Given the description of an element on the screen output the (x, y) to click on. 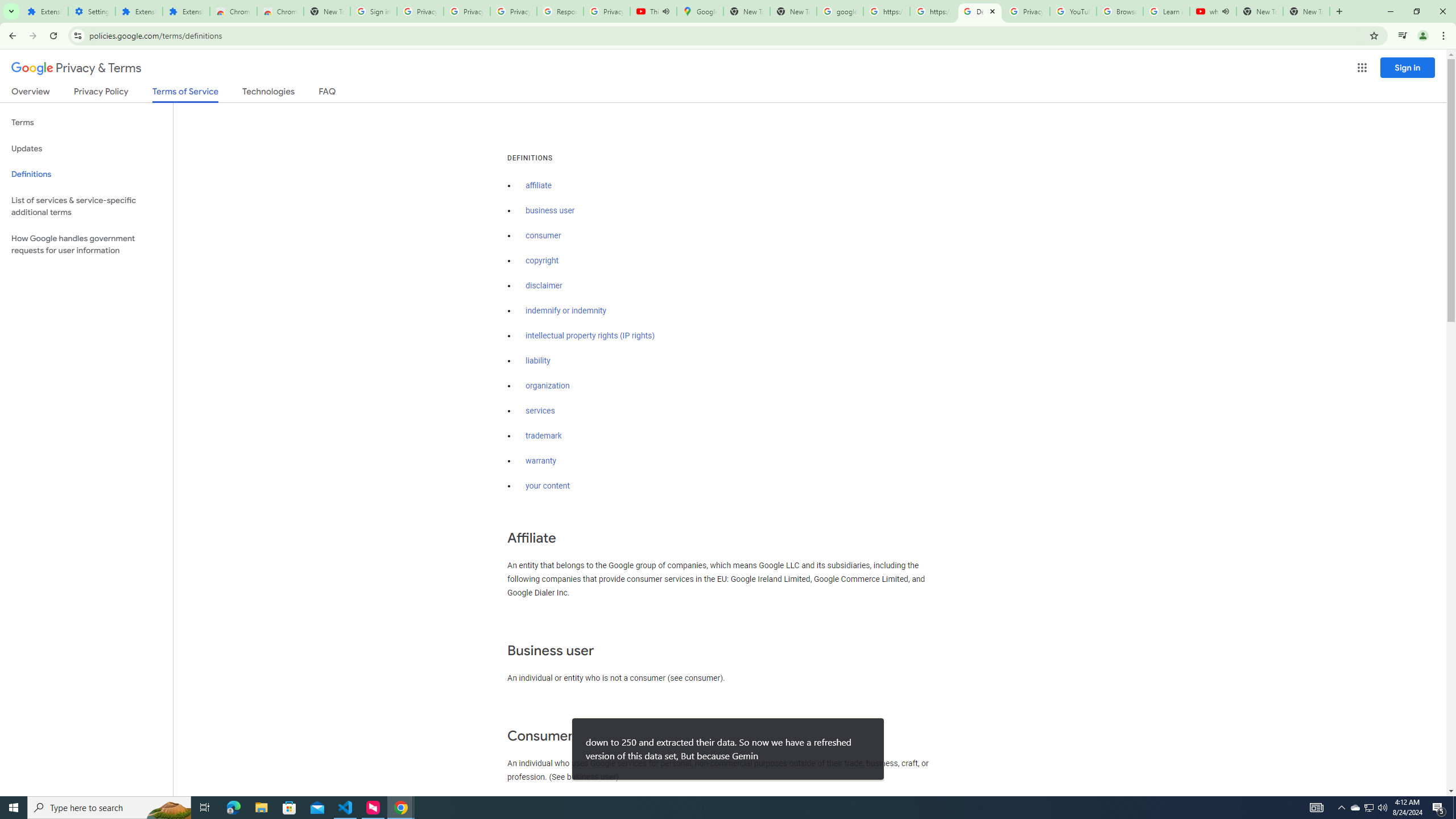
https://scholar.google.com/ (886, 11)
Chrome Web Store (233, 11)
trademark (543, 435)
